Given the description of an element on the screen output the (x, y) to click on. 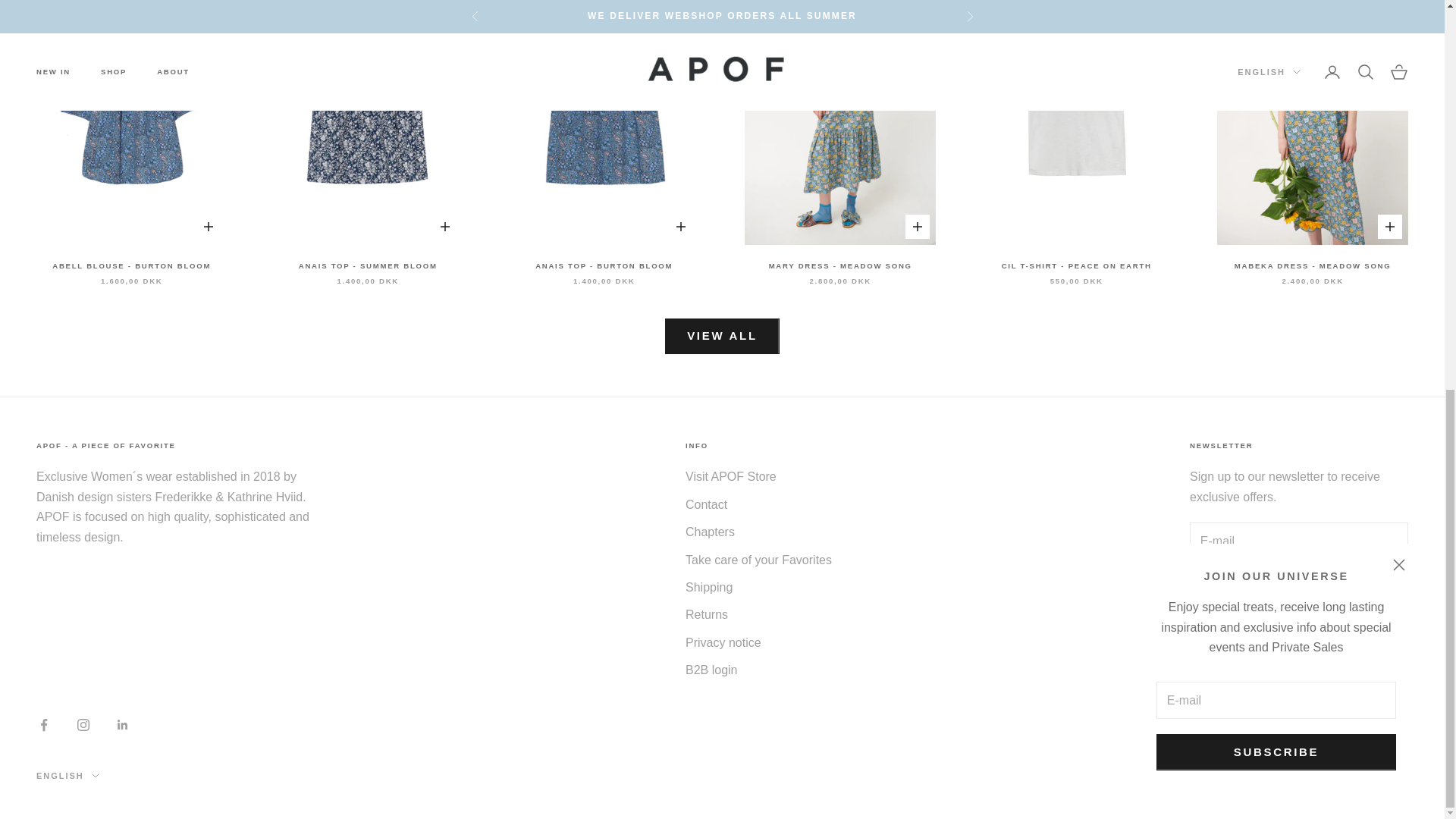
Newsletter popup (1276, 26)
